Given the description of an element on the screen output the (x, y) to click on. 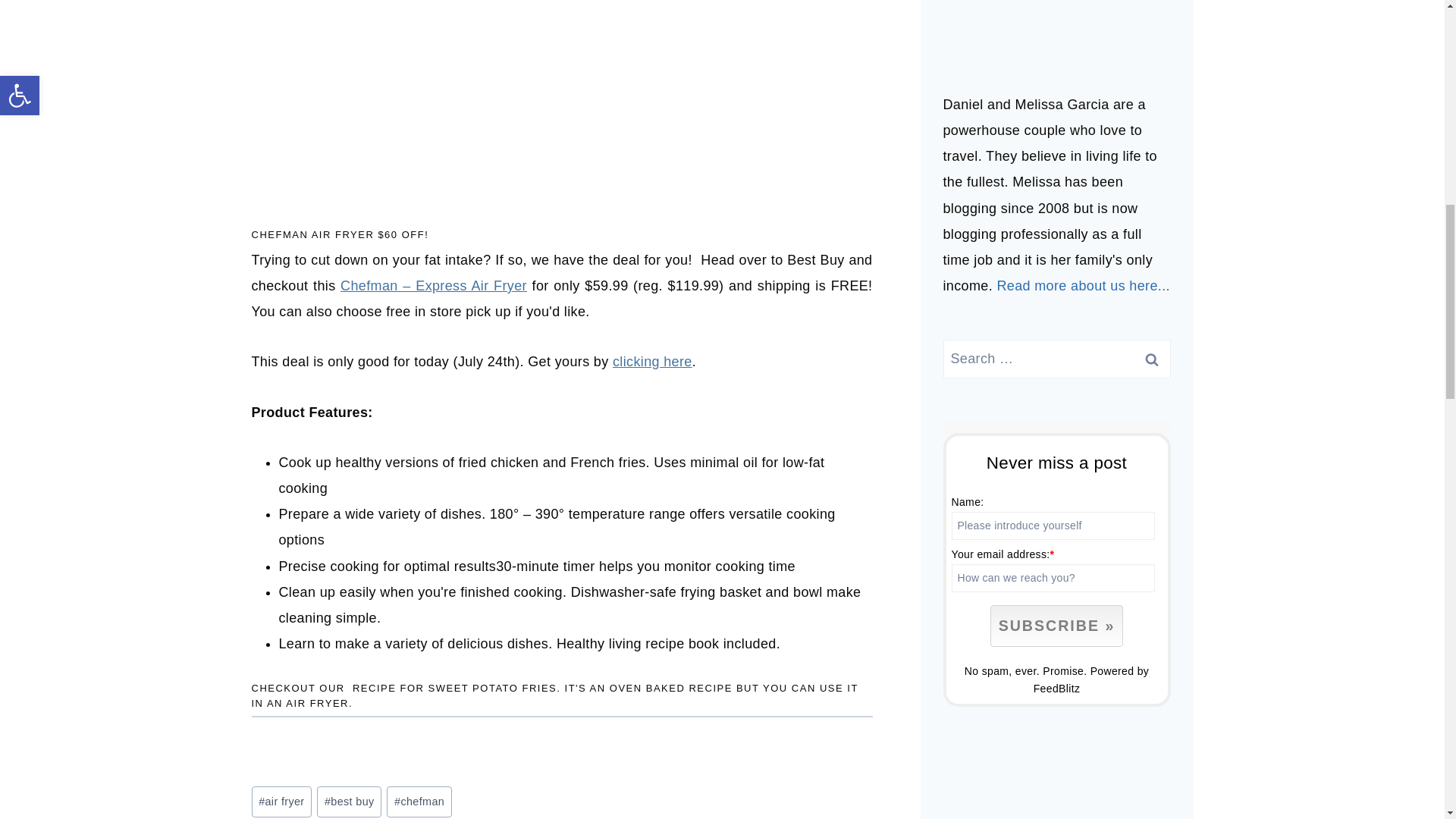
Air Fryer (317, 703)
click to join (1056, 626)
Search (1151, 358)
air fryer (282, 801)
chefman (419, 801)
Search (1151, 358)
Please introduce yourself (1052, 525)
How can we reach you? (1052, 578)
best buy (349, 801)
